Given the description of an element on the screen output the (x, y) to click on. 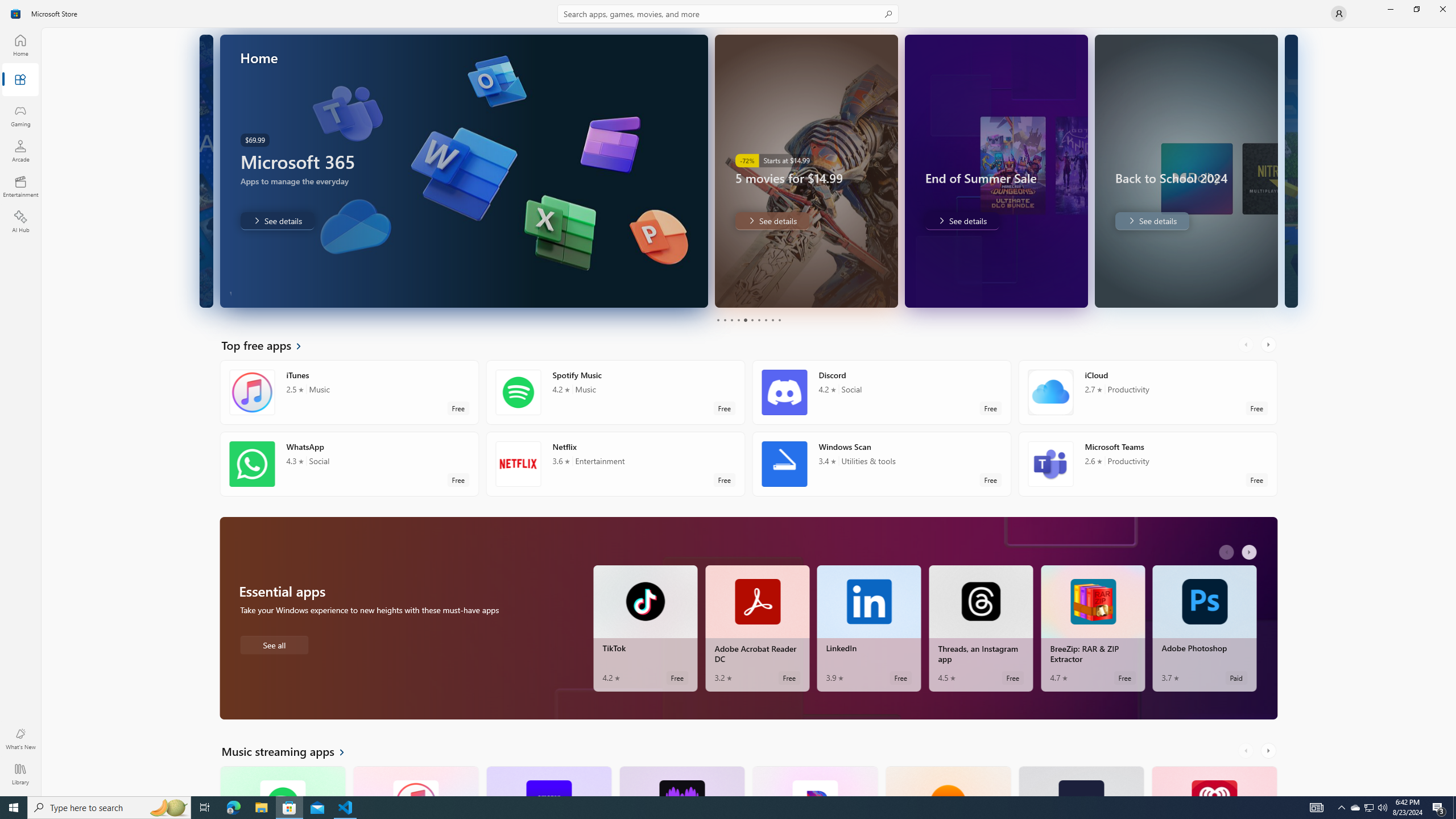
Page 6 (751, 319)
TikTok. Average rating of 4.2 out of five stars. Free   (644, 628)
Page 9 (772, 319)
Page 5 (744, 319)
